Given the description of an element on the screen output the (x, y) to click on. 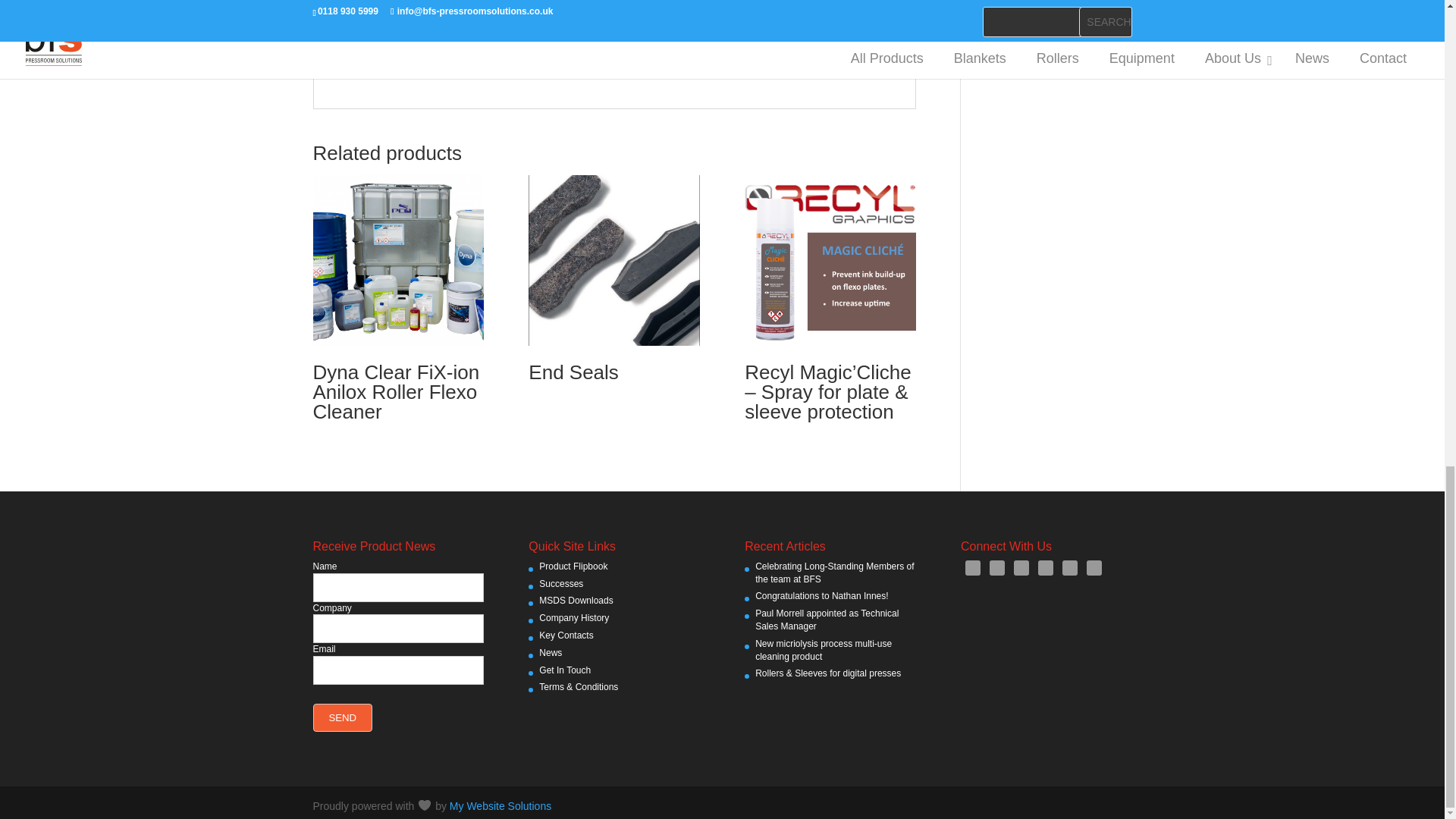
Product Flipbook (572, 566)
E-mail (972, 567)
YouTube (1093, 567)
Successes (560, 583)
Twitter (1069, 567)
MSDS Downloads (575, 600)
Send (342, 717)
Company History (573, 617)
Key Contacts (565, 634)
Facebook (996, 567)
LinkedIn (1021, 567)
Send (342, 717)
Phone (1045, 567)
